Given the description of an element on the screen output the (x, y) to click on. 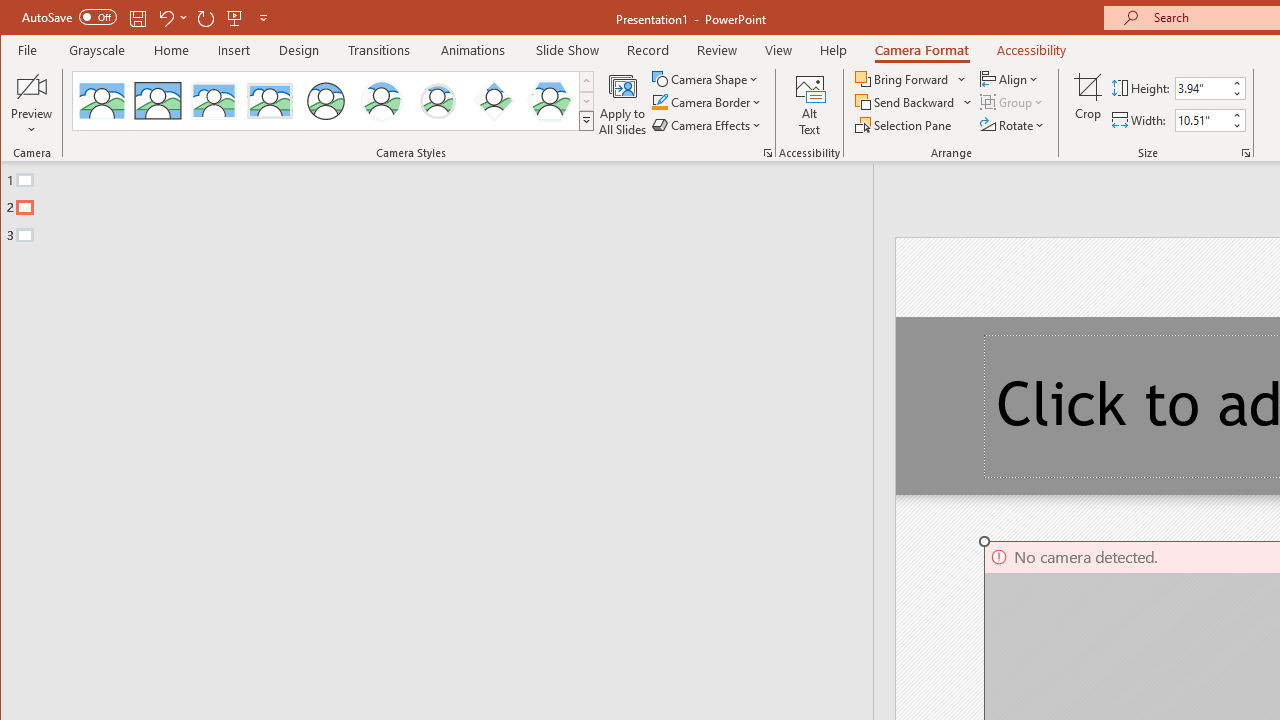
Camera Shape (706, 78)
Row up (585, 81)
Grayscale (97, 50)
Bring Forward (903, 78)
Camera Format (921, 50)
Redo (206, 17)
Less (1236, 125)
Design (299, 50)
Rotate (1013, 124)
Save (138, 17)
Class: NetUIImage (586, 120)
